Given the description of an element on the screen output the (x, y) to click on. 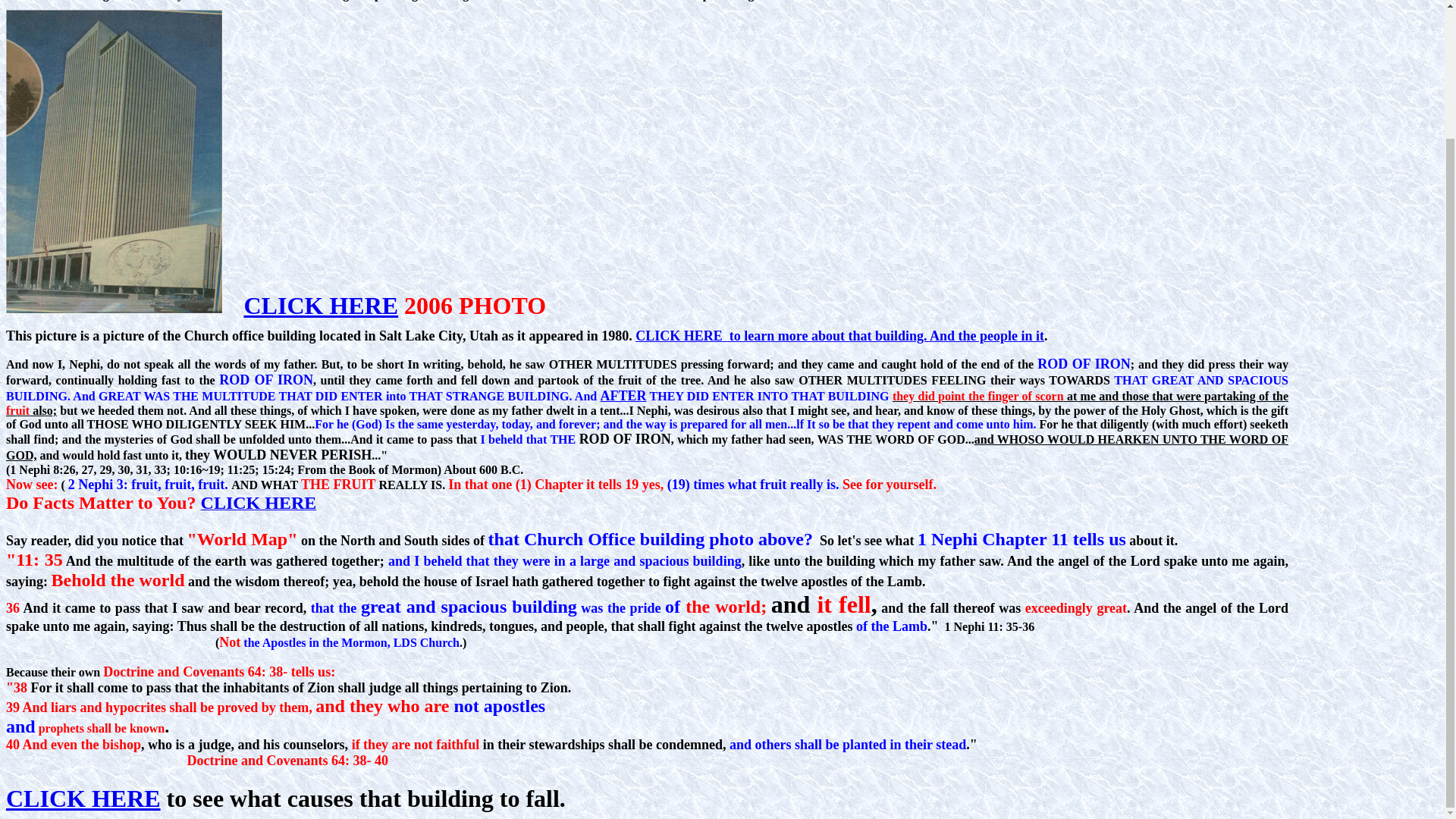
CLICK HERE (321, 305)
CLICK HERE (82, 798)
CLICK HERE (258, 504)
